Given the description of an element on the screen output the (x, y) to click on. 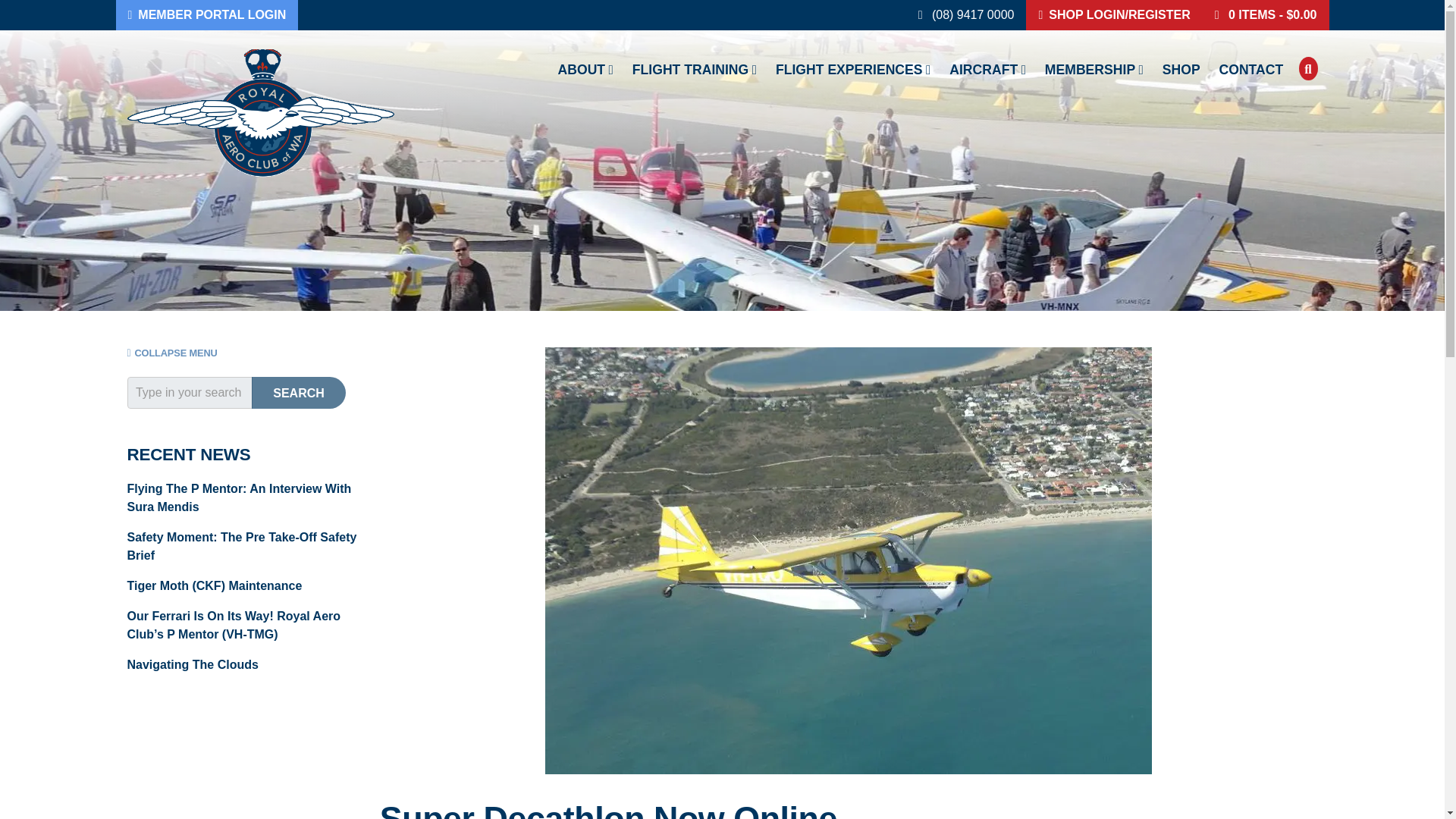
MEMBER PORTAL LOGIN (206, 15)
About (585, 69)
View your shopping cart (1265, 15)
ABOUT (585, 69)
Flight Training (694, 69)
FLIGHT EXPERIENCES (853, 69)
Search (298, 392)
Member Portal Login (206, 15)
AIRCRAFT (987, 69)
FLIGHT TRAINING (694, 69)
